Given the description of an element on the screen output the (x, y) to click on. 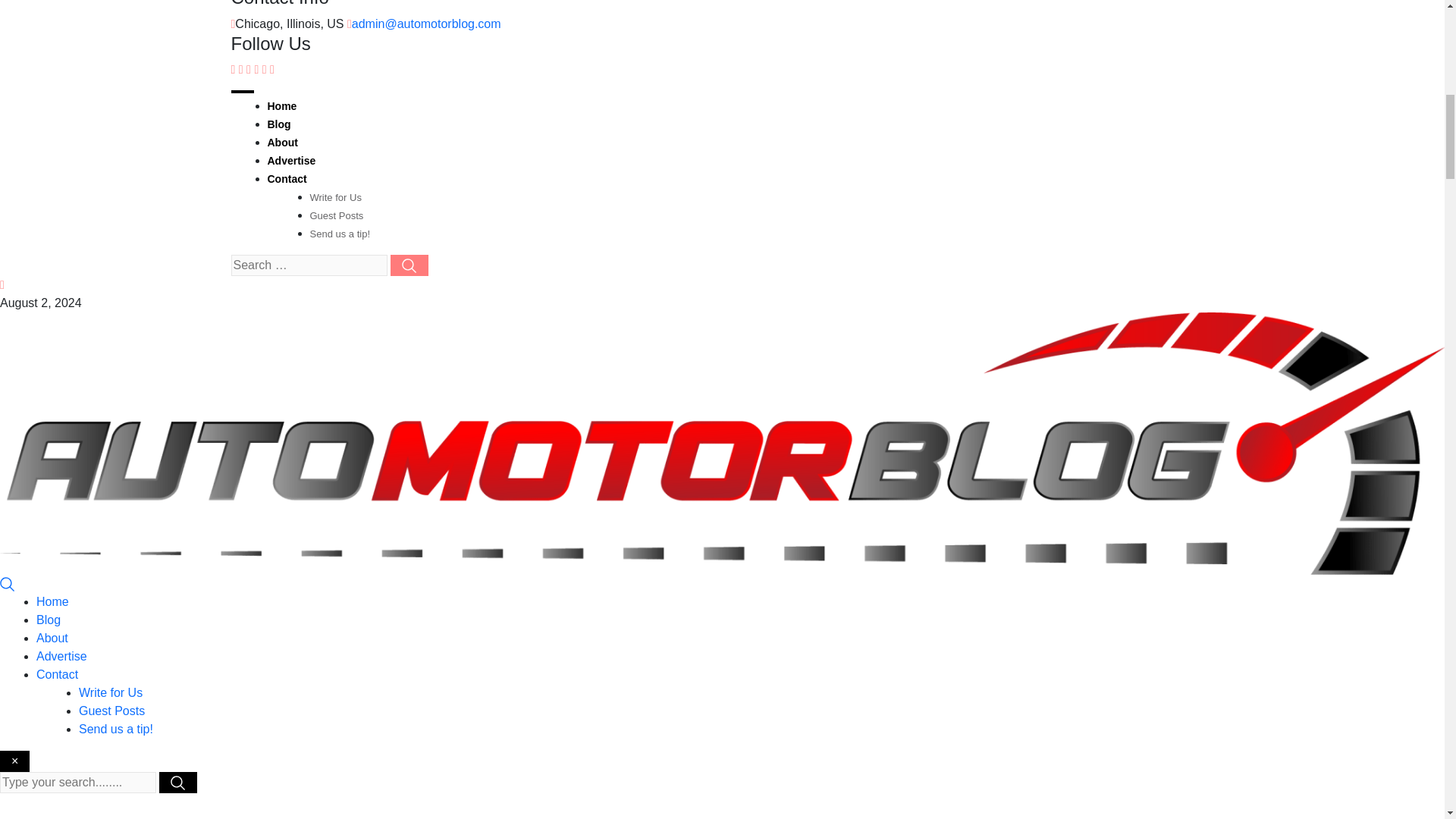
Contact (285, 178)
Blog (277, 123)
About (281, 142)
Advertise (290, 160)
Contact (57, 674)
Home (52, 601)
Guest Posts (335, 215)
Advertise (61, 656)
Blog (48, 619)
Write for Us (110, 692)
Guest Posts (111, 710)
Home (281, 105)
Go to the Chevrolet Category archives. (656, 818)
Search (7, 583)
